Given the description of an element on the screen output the (x, y) to click on. 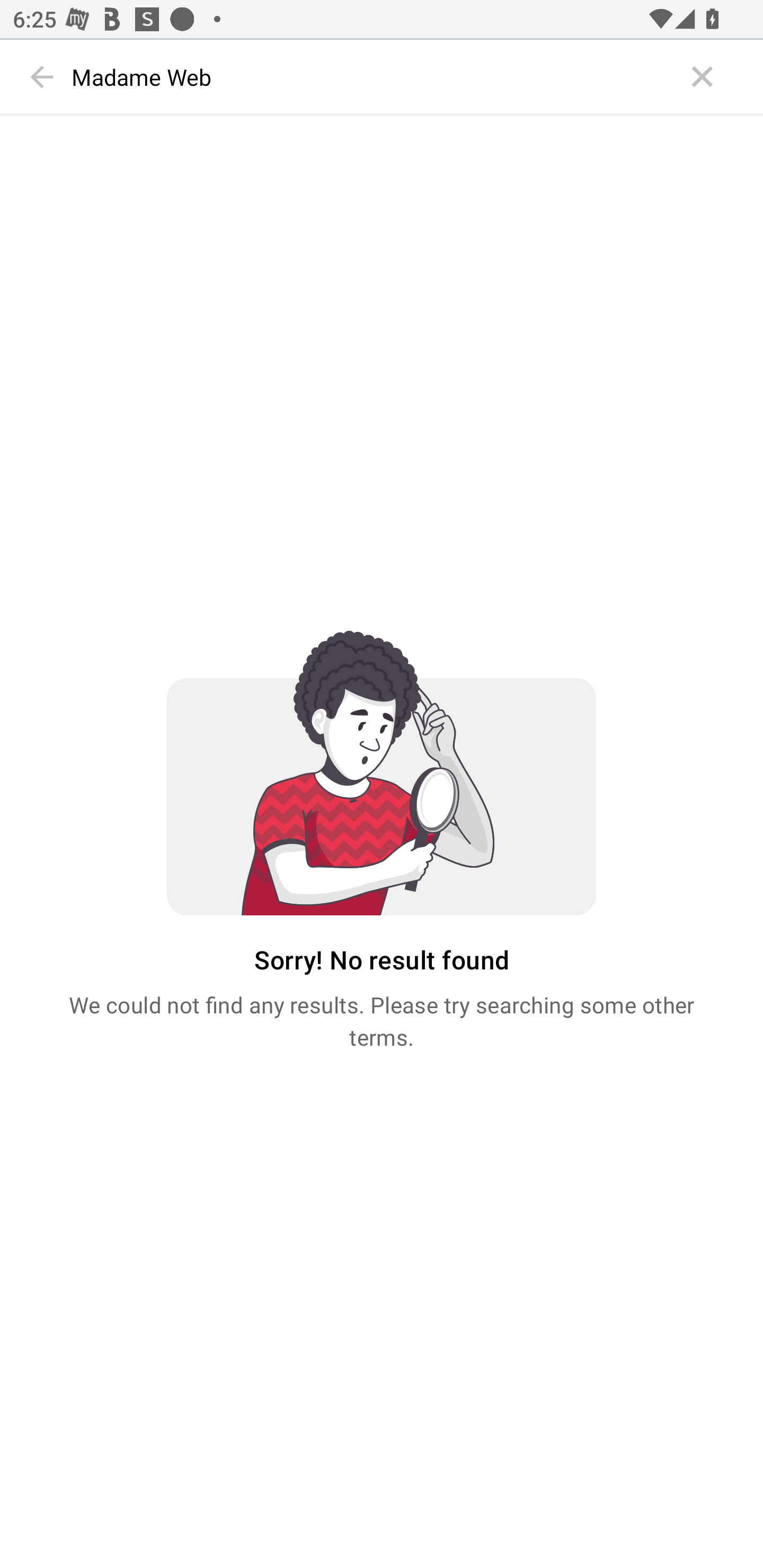
Back (42, 76)
Madame Web (373, 76)
Close (702, 76)
